Given the description of an element on the screen output the (x, y) to click on. 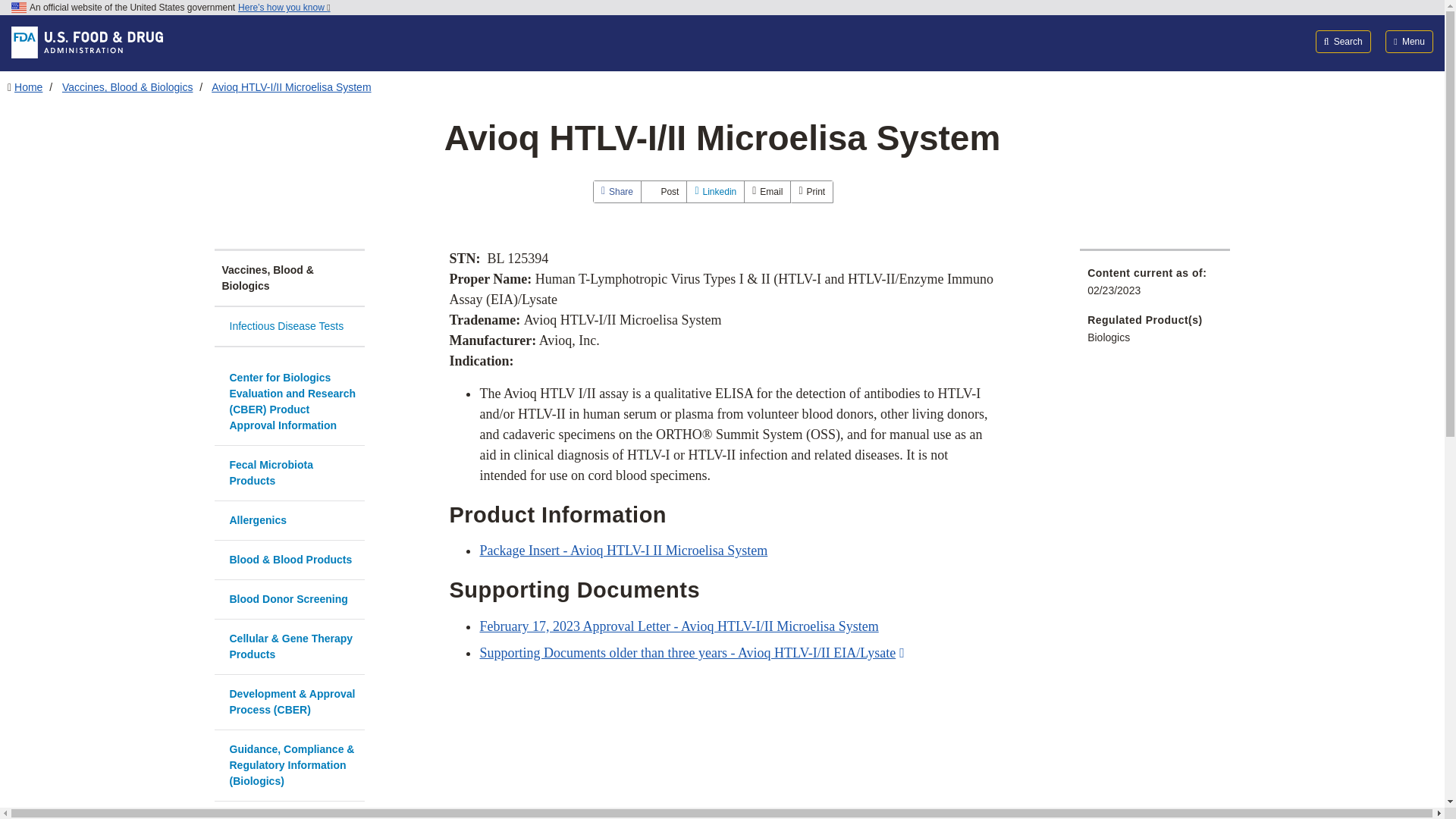
  Search (1343, 41)
Package Insert - Avioq HTLV-I II Microelisa System (623, 549)
Print this page (811, 191)
  Menu (1409, 41)
